Given the description of an element on the screen output the (x, y) to click on. 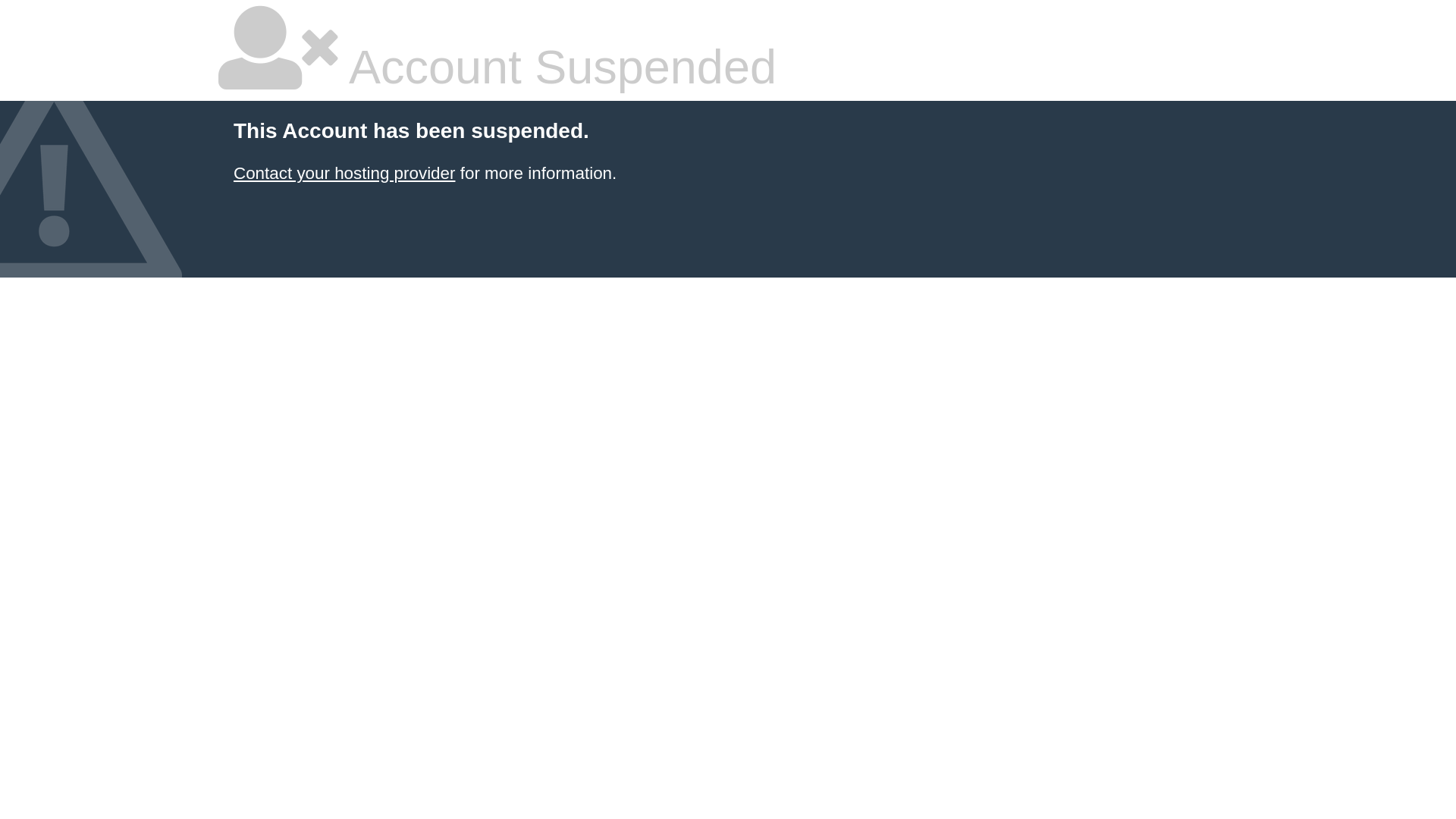
Contact your hosting provider Element type: text (344, 172)
